Given the description of an element on the screen output the (x, y) to click on. 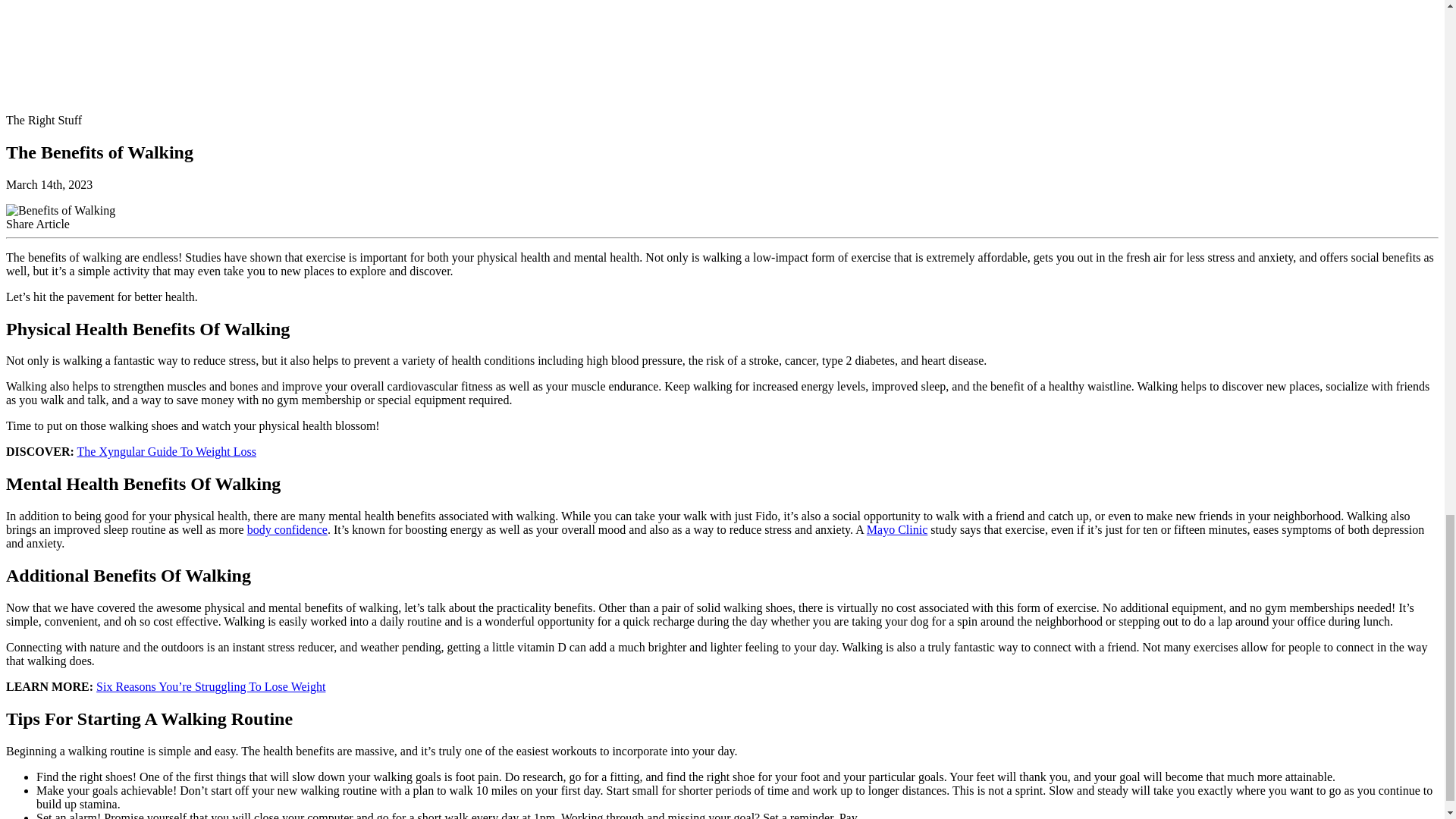
body confidence (287, 529)
Mayo Clinic (896, 529)
The Xyngular Guide To Weight Loss (167, 451)
